Given the description of an element on the screen output the (x, y) to click on. 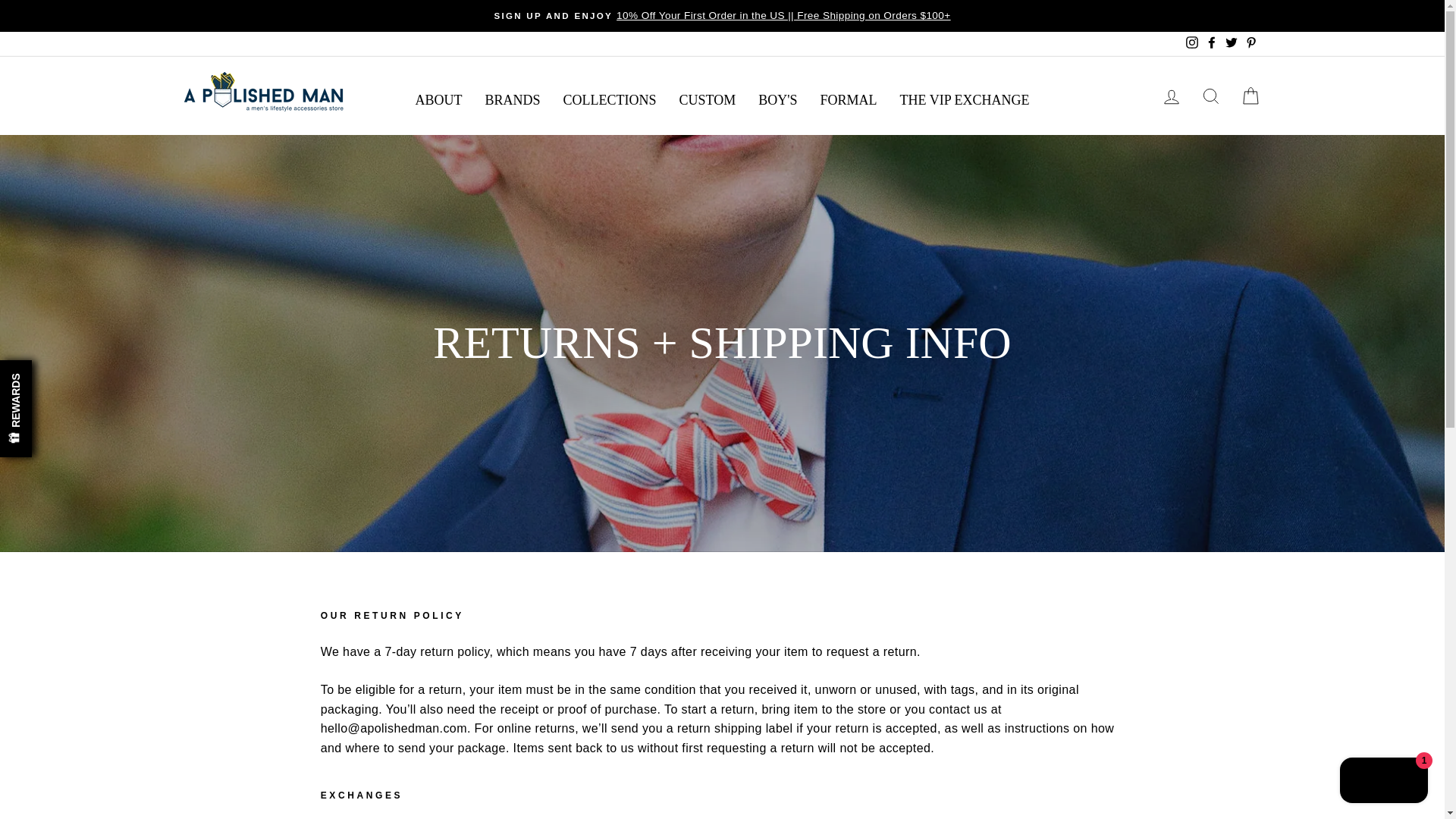
Shopify online store chat (1383, 781)
